Given the description of an element on the screen output the (x, y) to click on. 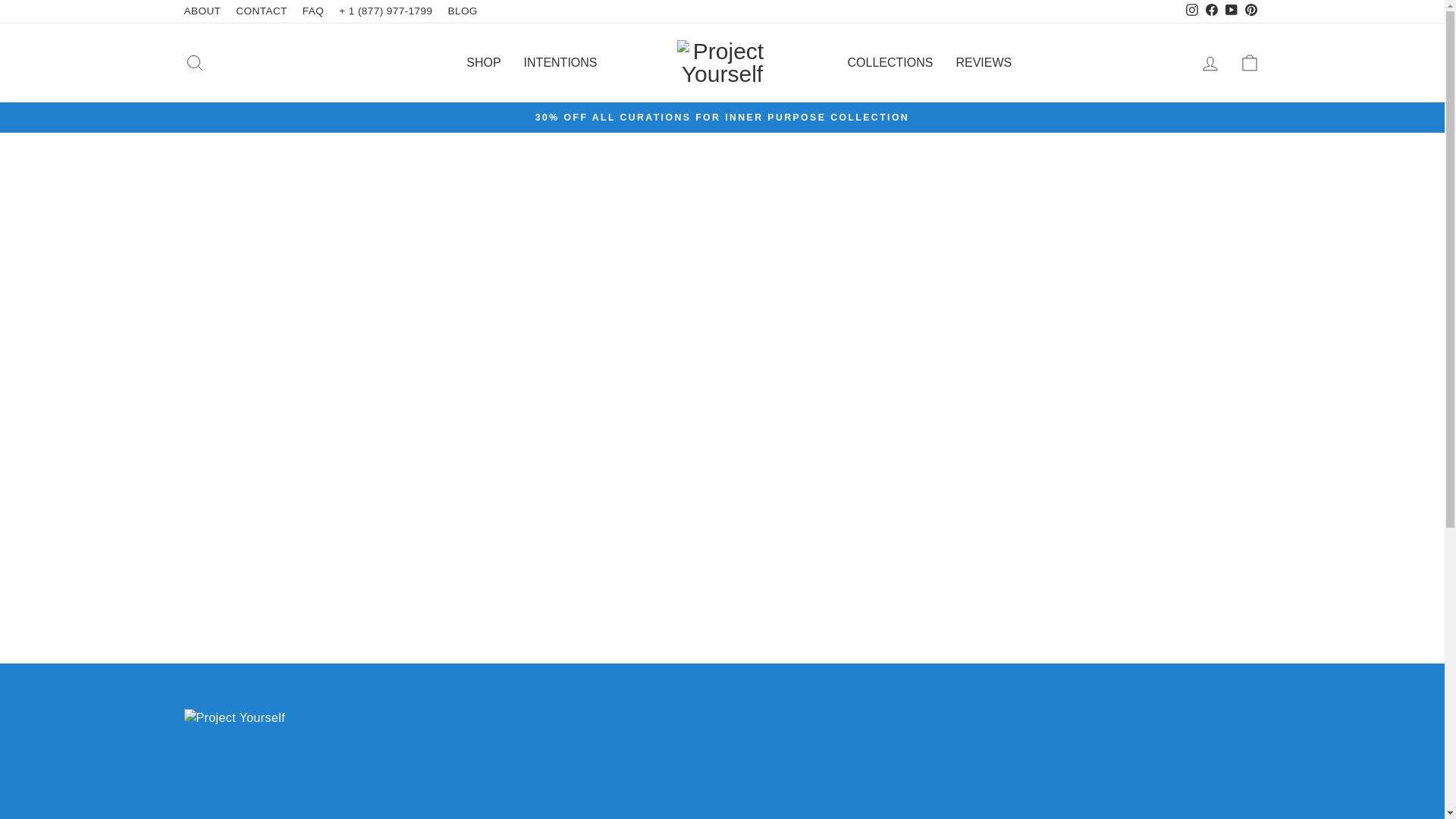
Project Yourself on Pinterest (1250, 11)
Project Yourself on Facebook (1211, 11)
Project Yourself on YouTube (1230, 11)
Project Yourself on Instagram (1190, 11)
